Given the description of an element on the screen output the (x, y) to click on. 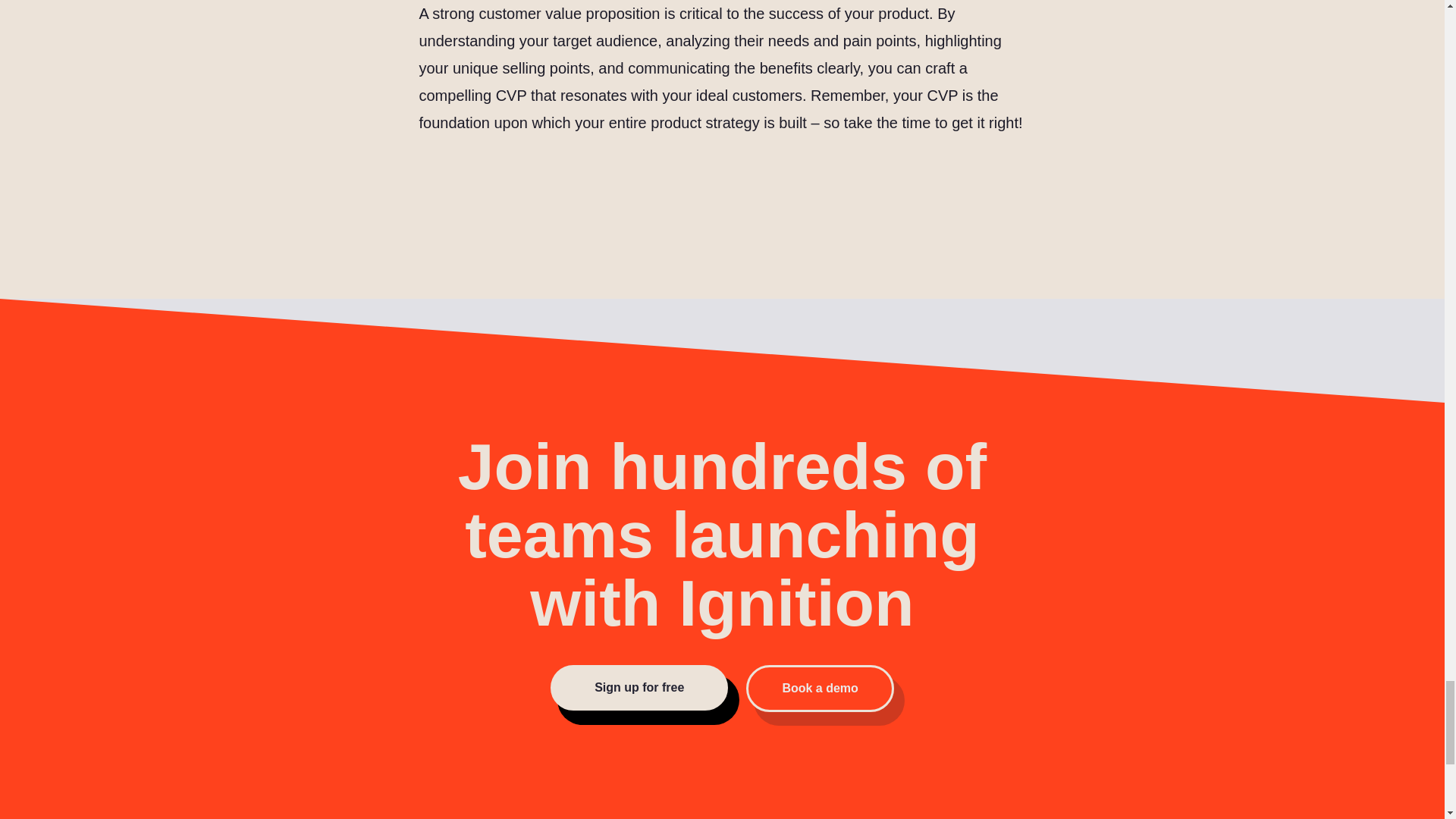
Sign up for free (639, 687)
Book a demo (819, 688)
